Given the description of an element on the screen output the (x, y) to click on. 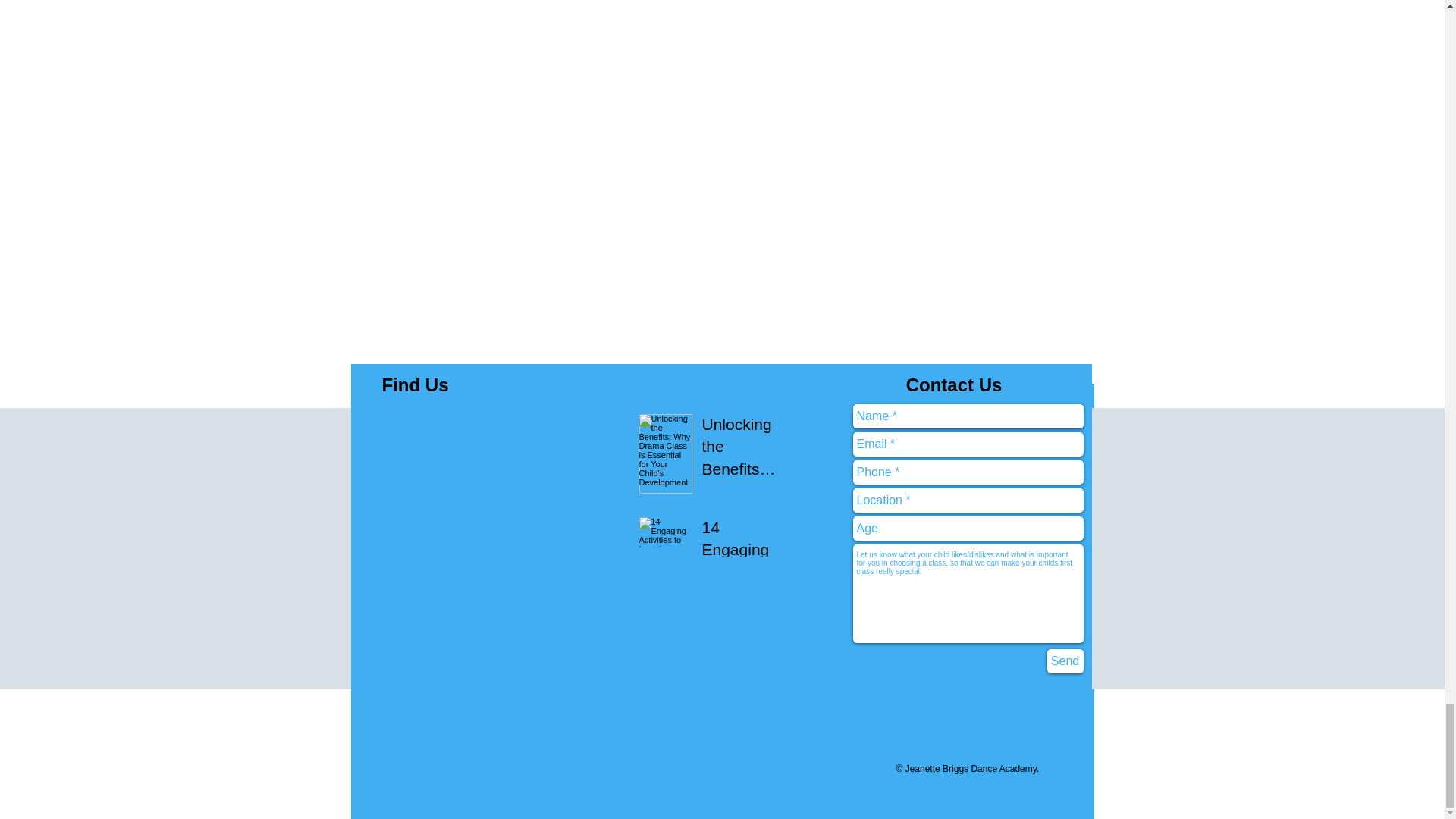
Find Us (414, 384)
